Given the description of an element on the screen output the (x, y) to click on. 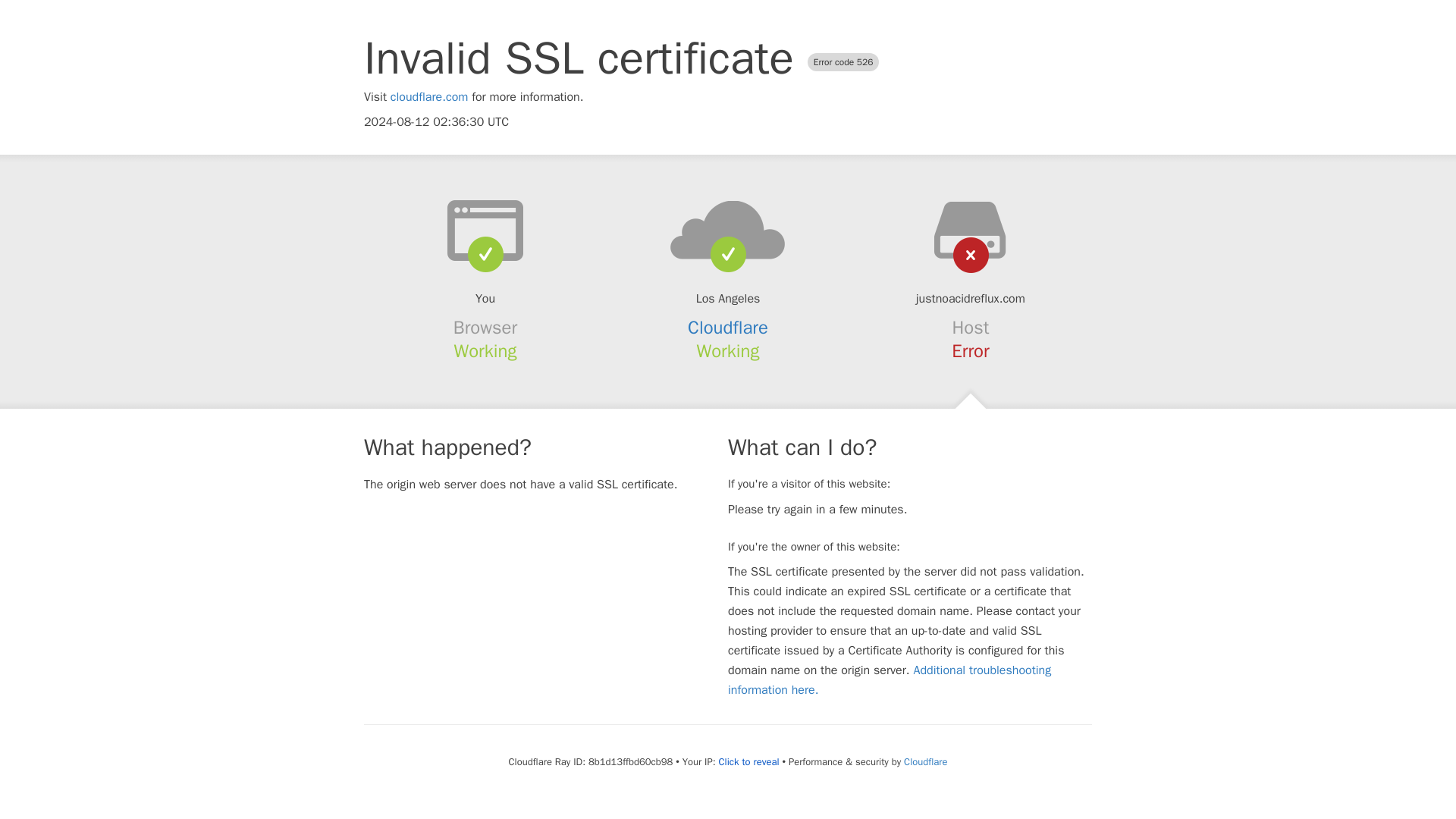
Click to reveal (748, 762)
Cloudflare (727, 327)
Additional troubleshooting information here. (889, 679)
cloudflare.com (429, 96)
Cloudflare (925, 761)
